Given the description of an element on the screen output the (x, y) to click on. 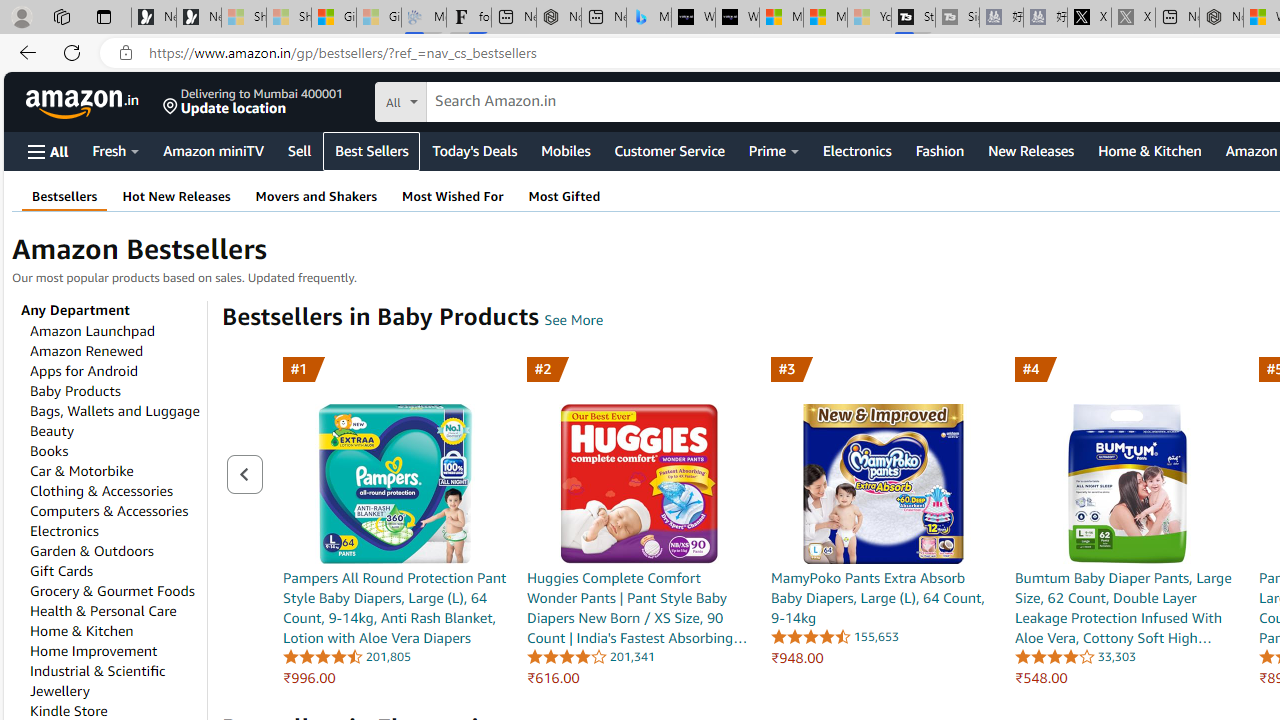
Most Gifted (564, 196)
Most Gifted (564, 196)
Beauty (52, 430)
Amazon Renewed (86, 351)
New Releases (1030, 150)
Mobiles (565, 150)
